Given the description of an element on the screen output the (x, y) to click on. 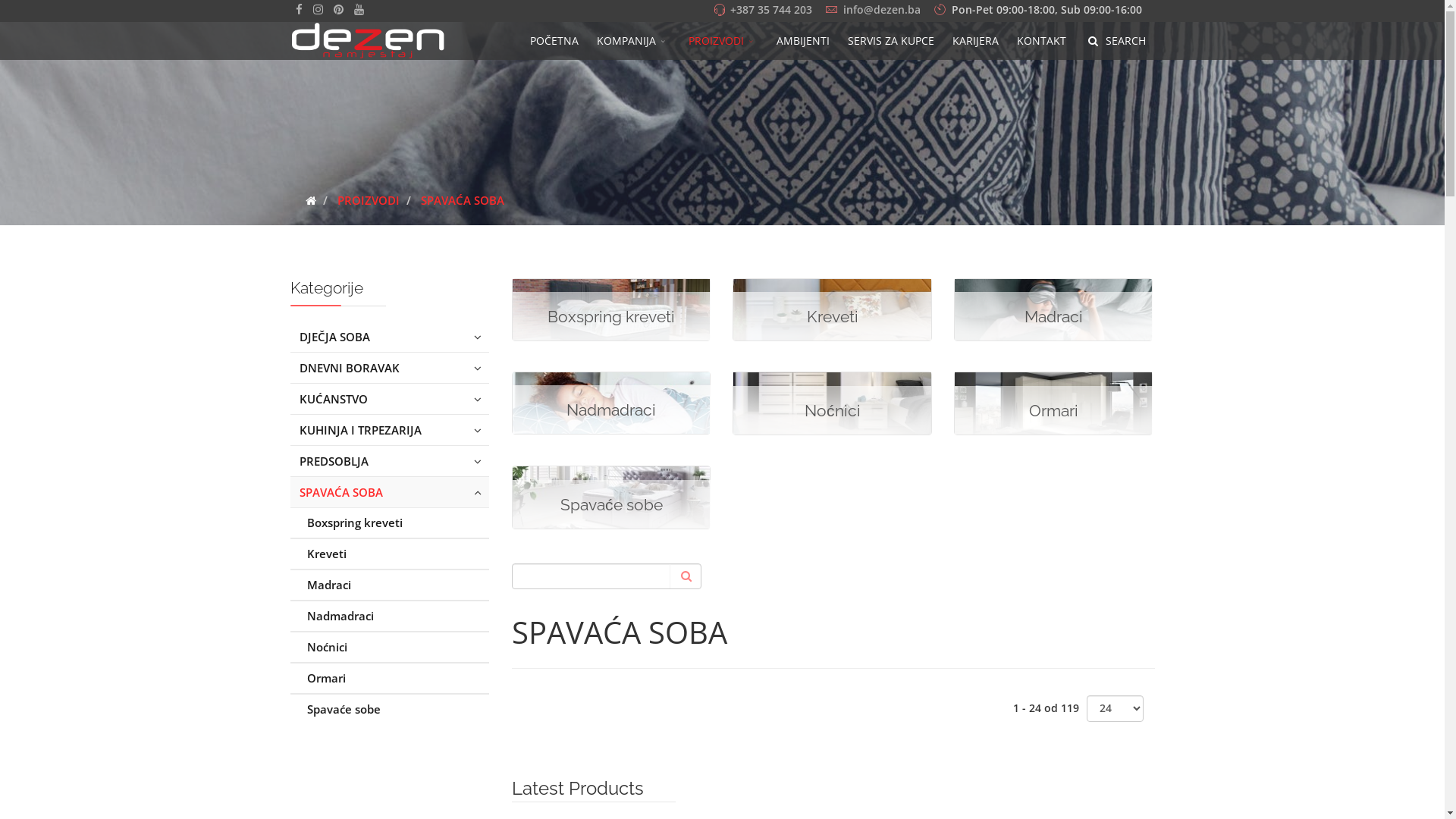
Nadmadraci Element type: text (389, 615)
Madraci Element type: text (389, 584)
PREDSOBLJA Element type: text (389, 460)
Boxspring kreveti Element type: text (389, 522)
PROIZVODI Element type: text (723, 40)
KARIJERA Element type: text (975, 40)
AMBIJENTI Element type: text (802, 40)
Ormari Element type: text (389, 677)
SERVIS ZA KUPCE Element type: text (890, 40)
DNEVNI BORAVAK Element type: text (389, 367)
KUHINJA I TRPEZARIJA Element type: text (389, 429)
SEARCH Element type: text (1114, 40)
Kreveti Element type: text (389, 553)
Search in shop Element type: text (684, 576)
KOMPANIJA Element type: text (633, 40)
PROIZVODI Element type: text (367, 199)
KONTAKT Element type: text (1041, 40)
+387 35 744 203 Element type: text (770, 9)
info@dezen.ba Element type: text (881, 9)
